Given the description of an element on the screen output the (x, y) to click on. 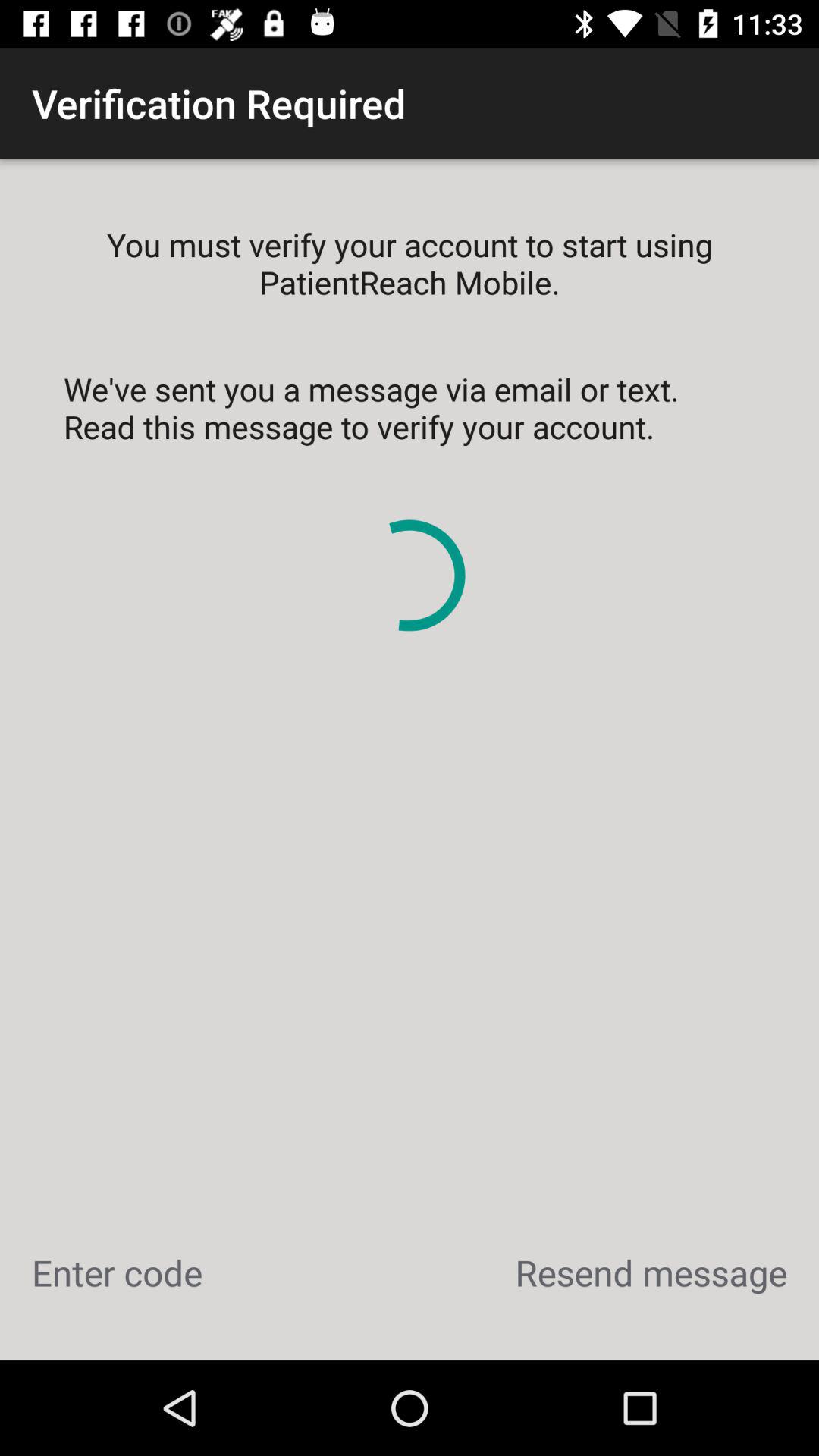
flip until enter code (116, 1272)
